Given the description of an element on the screen output the (x, y) to click on. 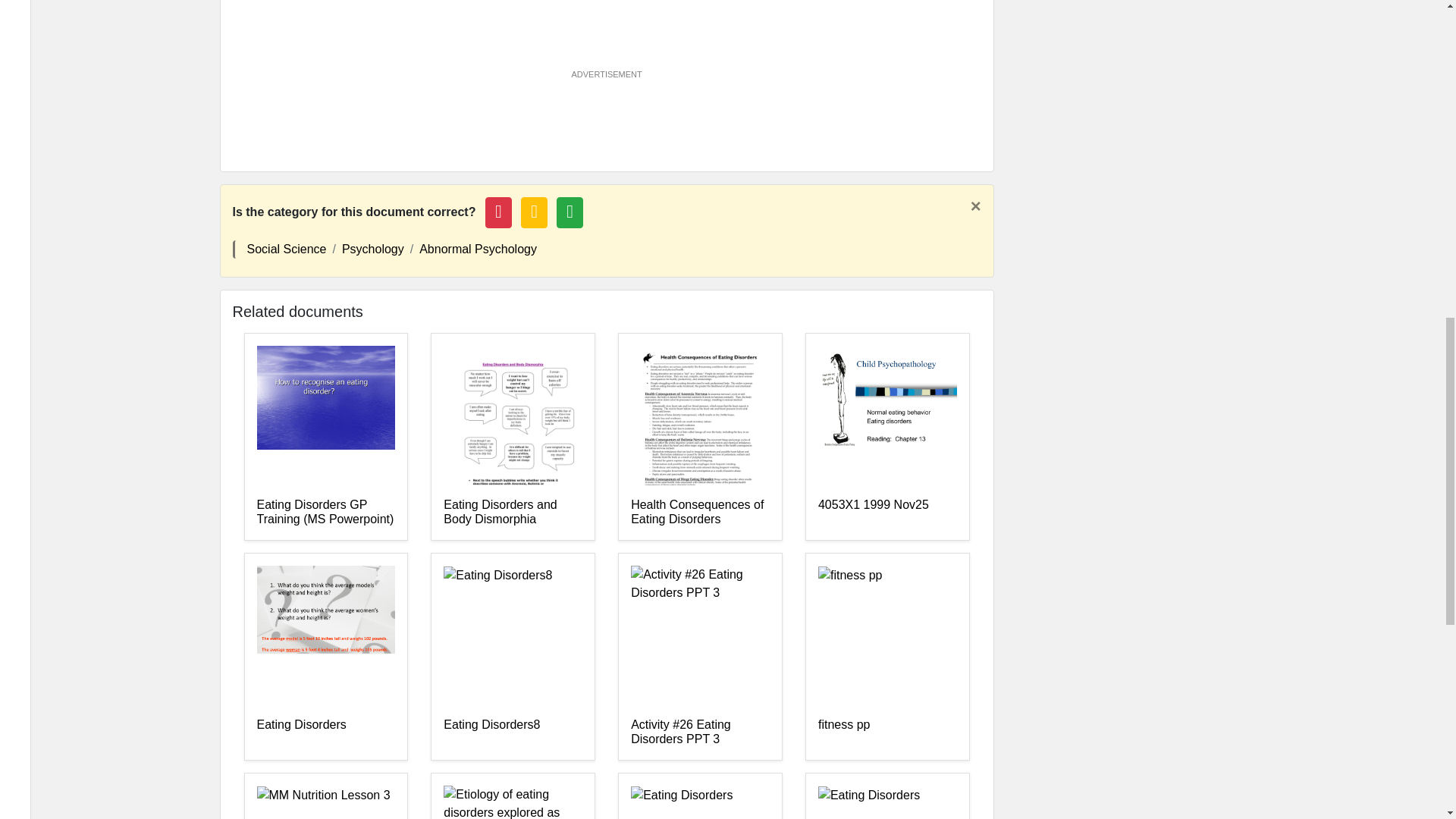
4053X1 1999 Nov25 (887, 512)
Eating Disorders and Body Dismorphia (513, 512)
Psychology (373, 248)
Eating Disorders and Body Dismorphia (513, 512)
Eating Disorders (325, 732)
Abnormal Psychology (478, 248)
Health Consequences of Eating Disorders (700, 512)
fitness pp (887, 732)
Eating Disorders8 (513, 732)
Health Consequences of Eating Disorders (700, 512)
